Given the description of an element on the screen output the (x, y) to click on. 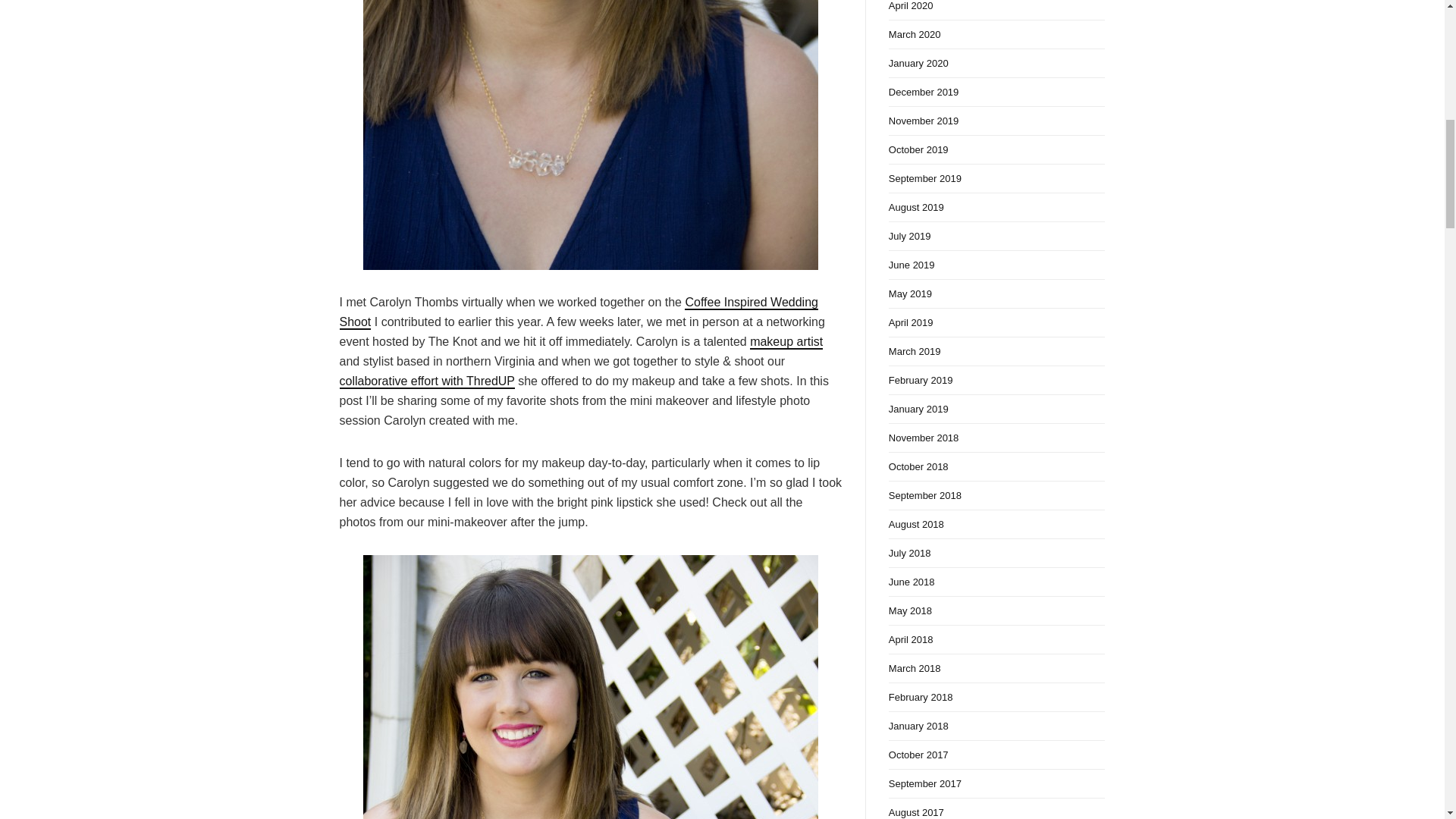
collaborative effort with ThredUP (427, 381)
makeup artist (785, 341)
Mini Makeover with Carolyn Thombs (591, 687)
Coffee Inspired Wedding Shoot (578, 312)
